Given the description of an element on the screen output the (x, y) to click on. 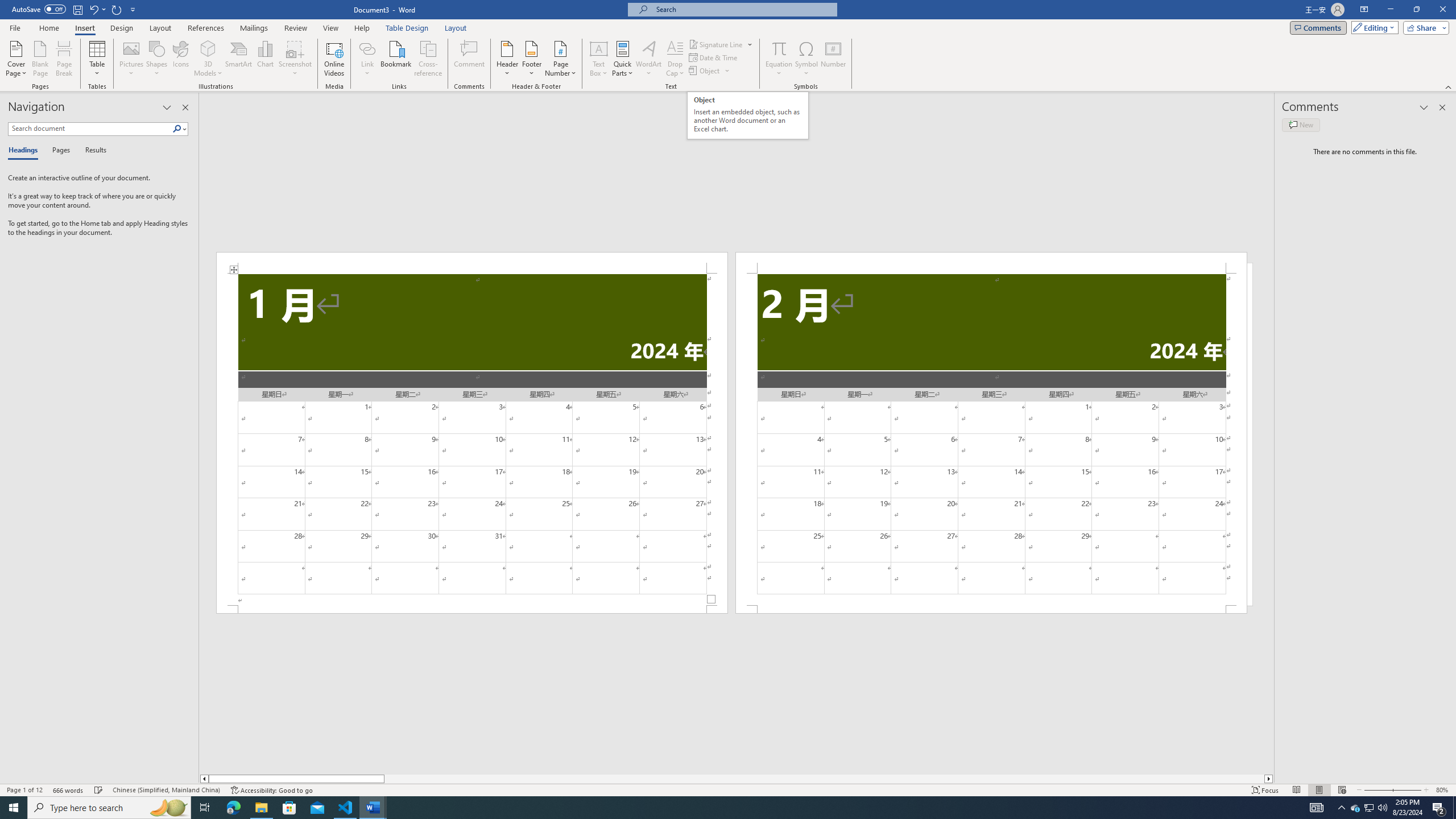
Equation (778, 58)
Chart... (265, 58)
Accessibility Checker Accessibility: Good to go (271, 790)
Date & Time... (714, 56)
Cover Page (16, 58)
Page Break (63, 58)
